Given the description of an element on the screen output the (x, y) to click on. 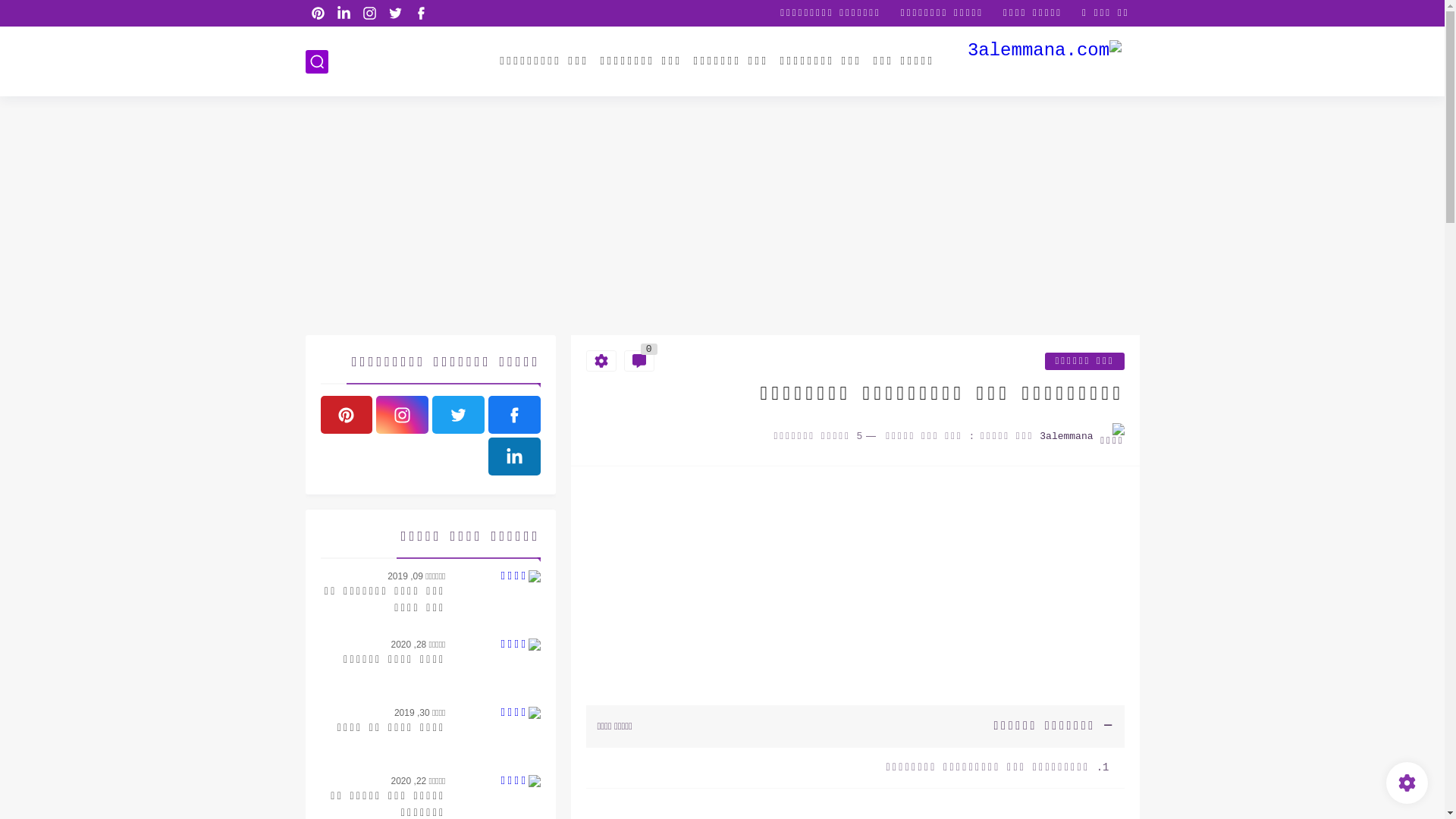
Advertisement Element type: hover (854, 586)
twitter Element type: hover (395, 13)
facebook Element type: hover (514, 414)
instagram Element type: hover (402, 414)
linkedin Element type: hover (344, 13)
linkedin Element type: hover (514, 456)
3alemmana.com Element type: hover (1044, 61)
pinterest Element type: hover (318, 13)
twitter Element type: hover (458, 414)
facebook Element type: hover (421, 13)
0 Element type: text (638, 360)
pinterest Element type: hover (346, 414)
Advertisement Element type: hover (721, 217)
instagram Element type: hover (369, 13)
